Given the description of an element on the screen output the (x, y) to click on. 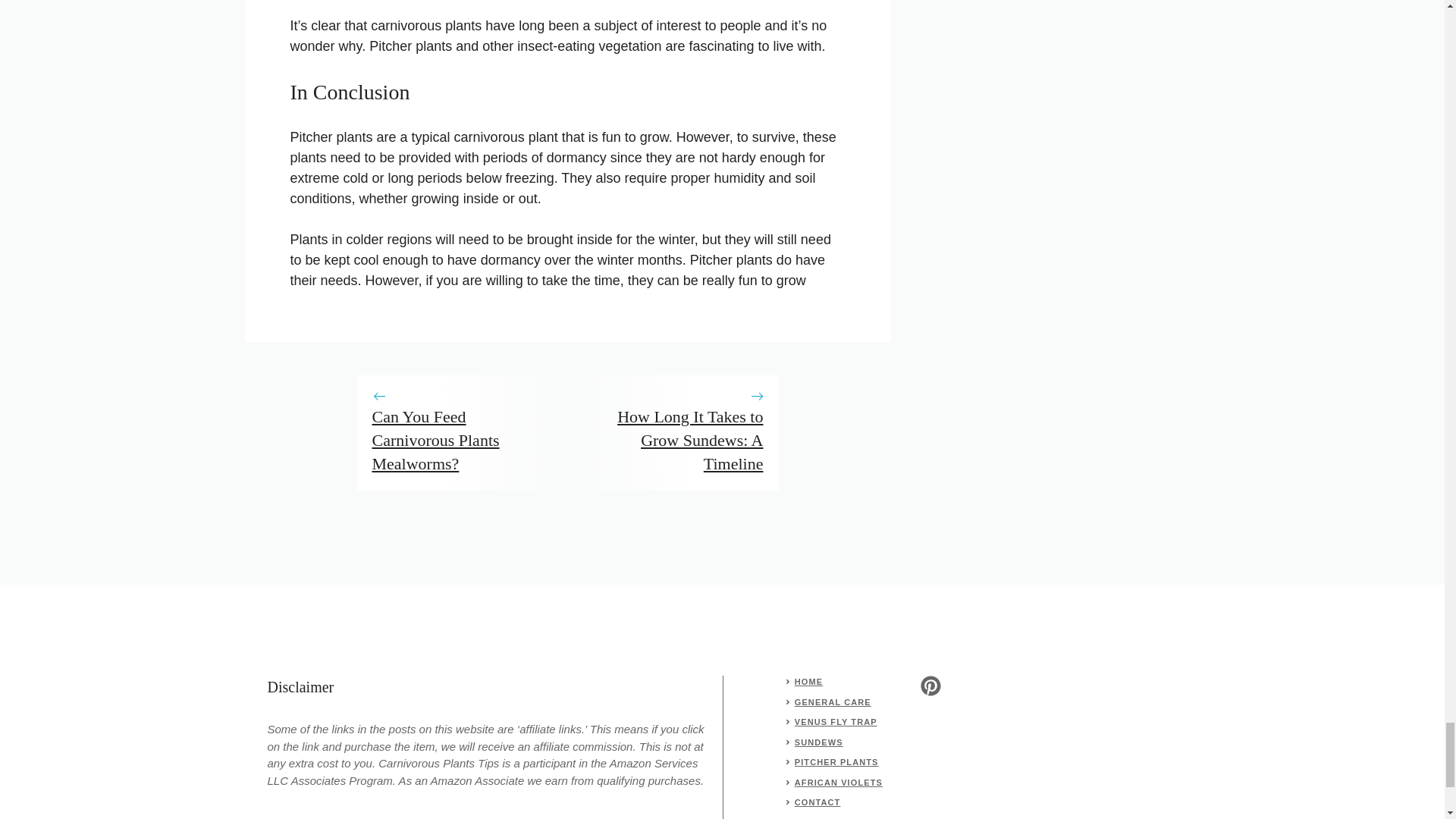
CONTACT (817, 801)
VENUS FLY TRAP (835, 721)
GENERAL CARE (832, 701)
PITCHER PLANTS (836, 761)
Can You Feed Carnivorous Plants Mealworms? (435, 440)
HOME (808, 681)
AFRICAN VIOLETS (838, 782)
SUNDEWS (818, 741)
How Long It Takes to Grow Sundews: A Timeline (689, 440)
